Given the description of an element on the screen output the (x, y) to click on. 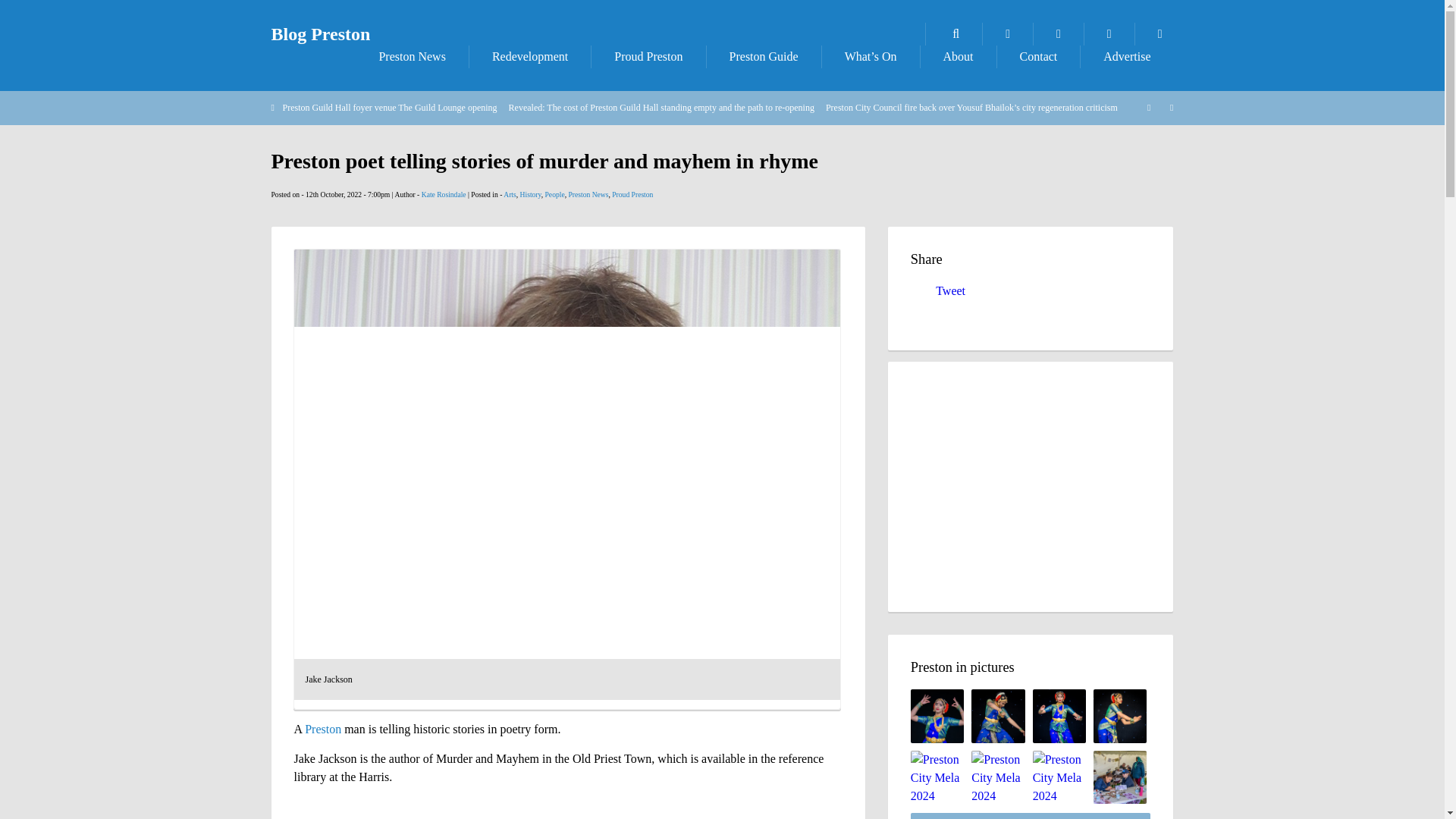
Tweet (950, 290)
Contact (1038, 56)
Preston Guild Hall foyer venue The Guild Lounge opening (389, 107)
Proud Preston (631, 194)
Redevelopment (529, 56)
Proud Preston (647, 56)
Blog Preston on Facebook (1058, 33)
Latest Preston news (411, 56)
Advertise (1126, 56)
Preston Guide (763, 56)
Arts (509, 194)
Kate Rosindale (443, 194)
Preston (322, 728)
Blog Preston (320, 33)
About Blog Preston (957, 56)
